Given the description of an element on the screen output the (x, y) to click on. 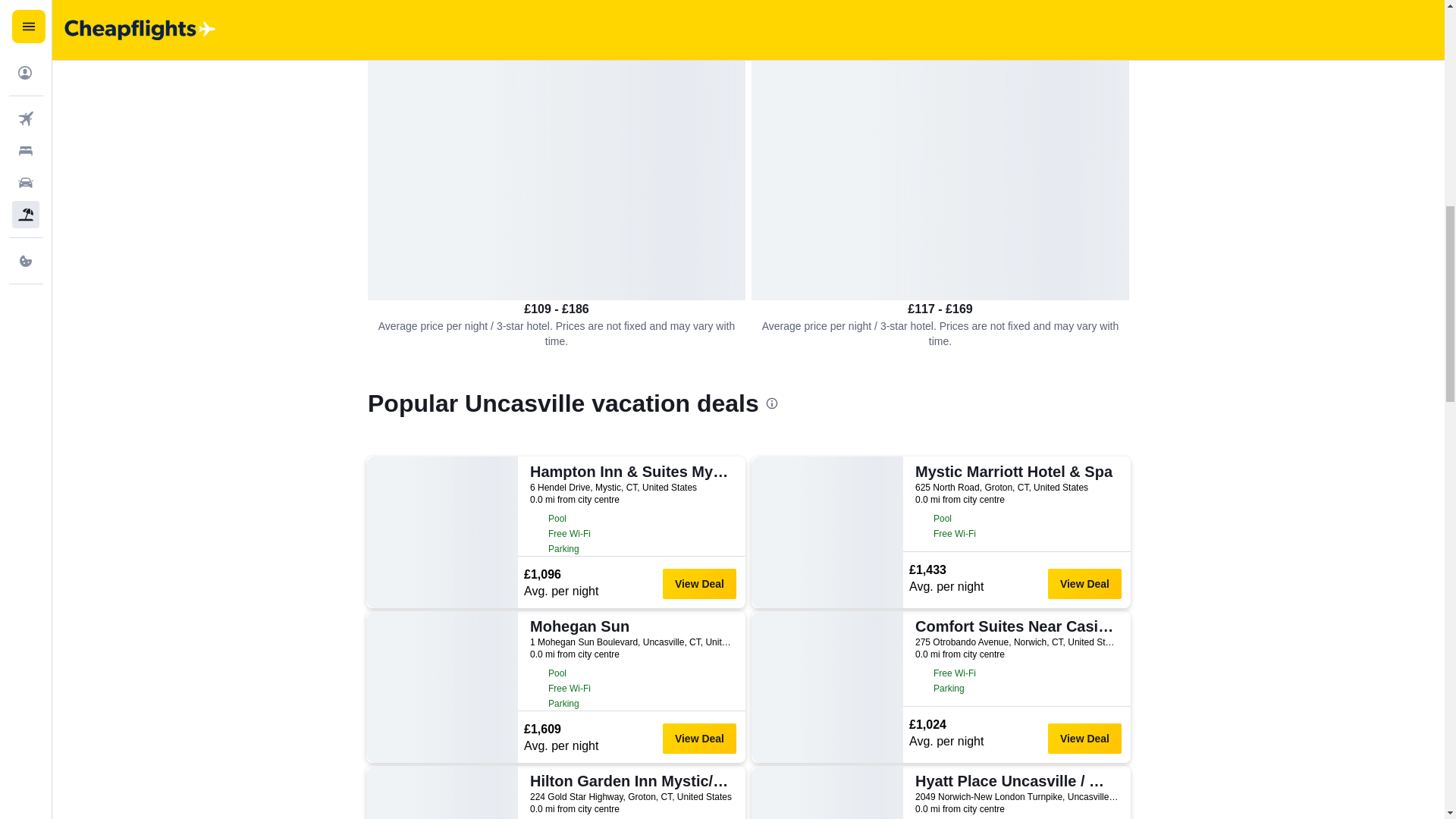
View Deal (699, 583)
View Deal (1084, 583)
View Deal (699, 738)
Mohegan Sun (629, 626)
View Deal (1084, 738)
Comfort Suites Near Casinos (1015, 626)
